Given the description of an element on the screen output the (x, y) to click on. 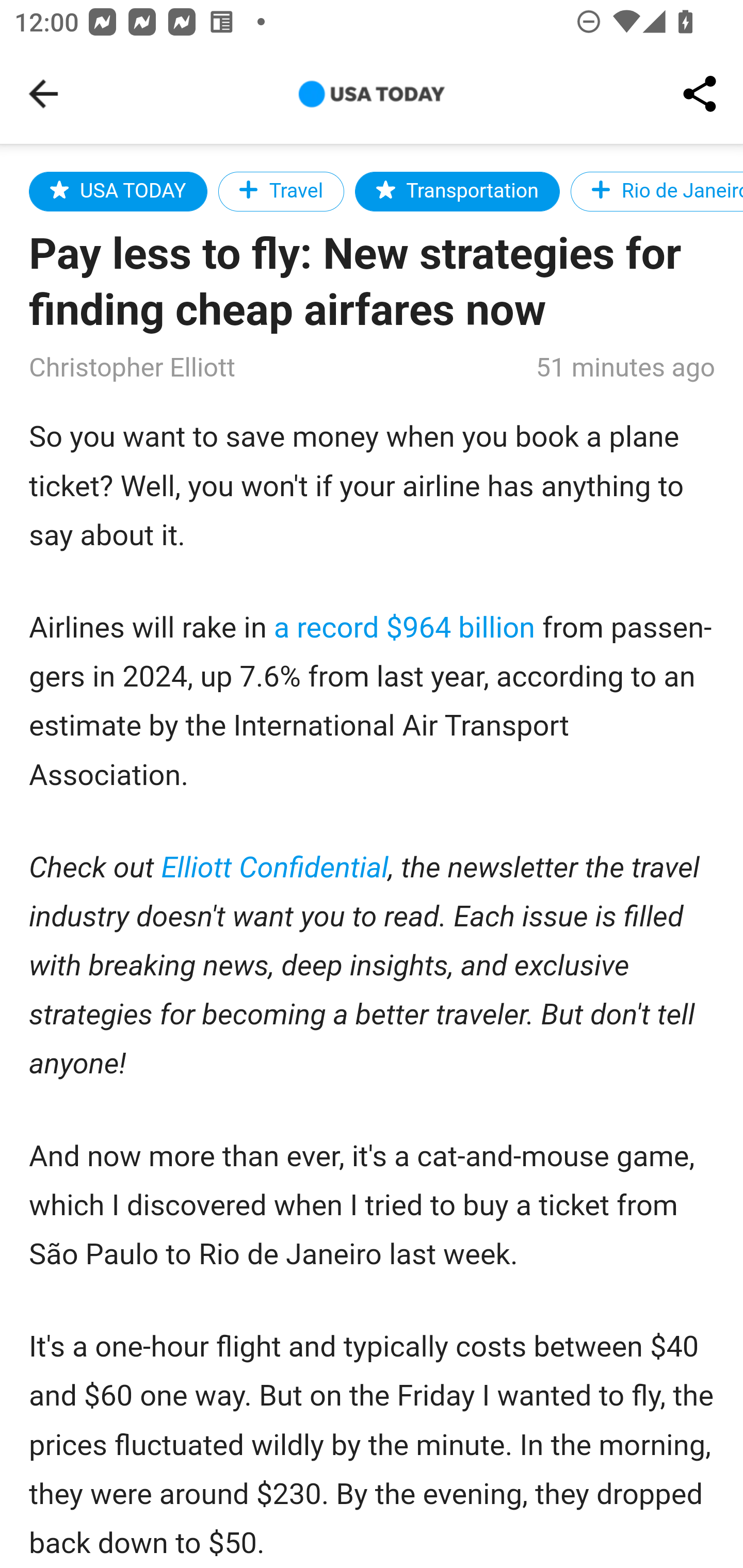
USA TODAY (117, 191)
Travel (280, 191)
Transportation (456, 191)
Rio de Janeiro (655, 191)
a record $964 billion (404, 627)
Elliott Confidential (275, 868)
